Given the description of an element on the screen output the (x, y) to click on. 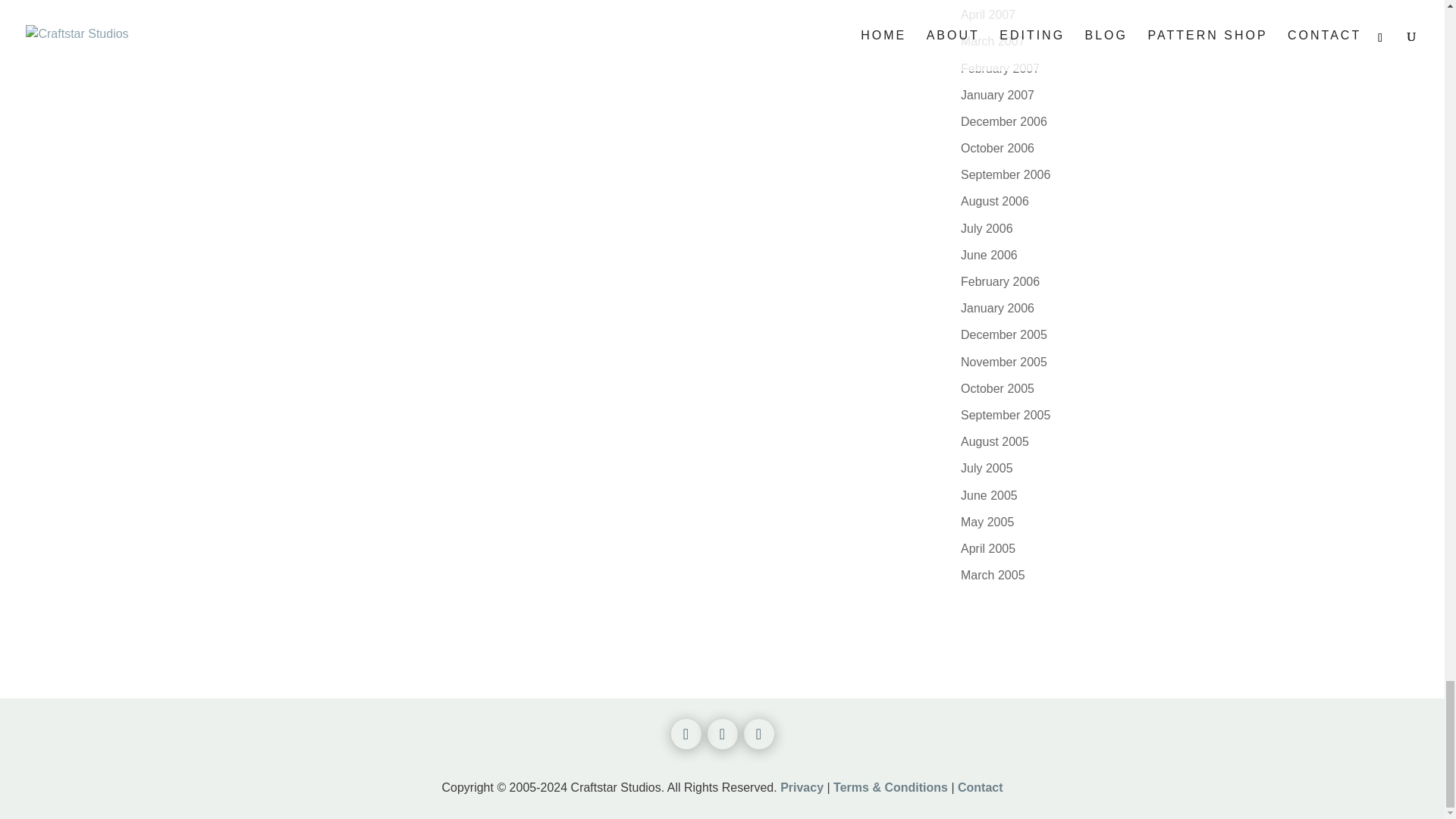
Follow on Facebook (684, 734)
Follow on Pinterest (757, 734)
Follow on Instagram (721, 734)
